Given the description of an element on the screen output the (x, y) to click on. 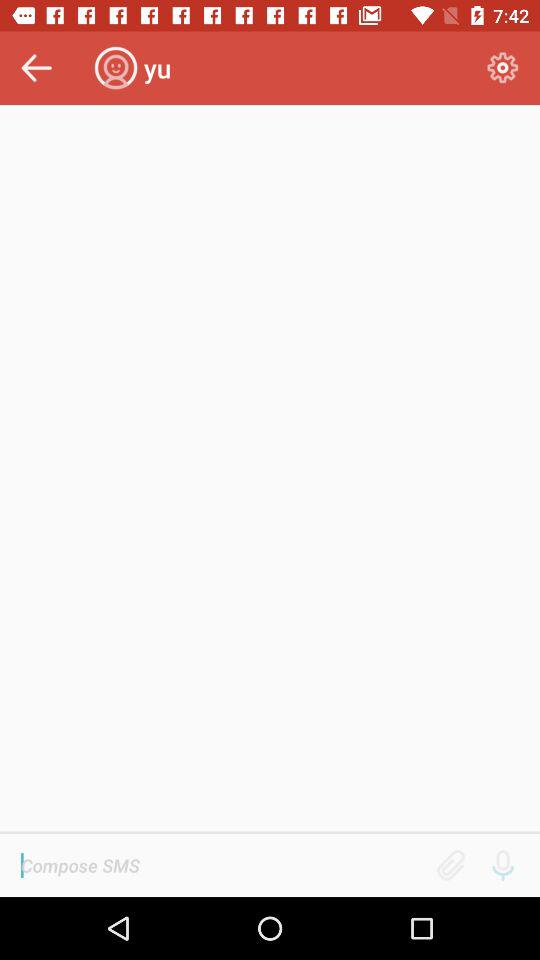
click the item next to  yu icon (502, 67)
